Given the description of an element on the screen output the (x, y) to click on. 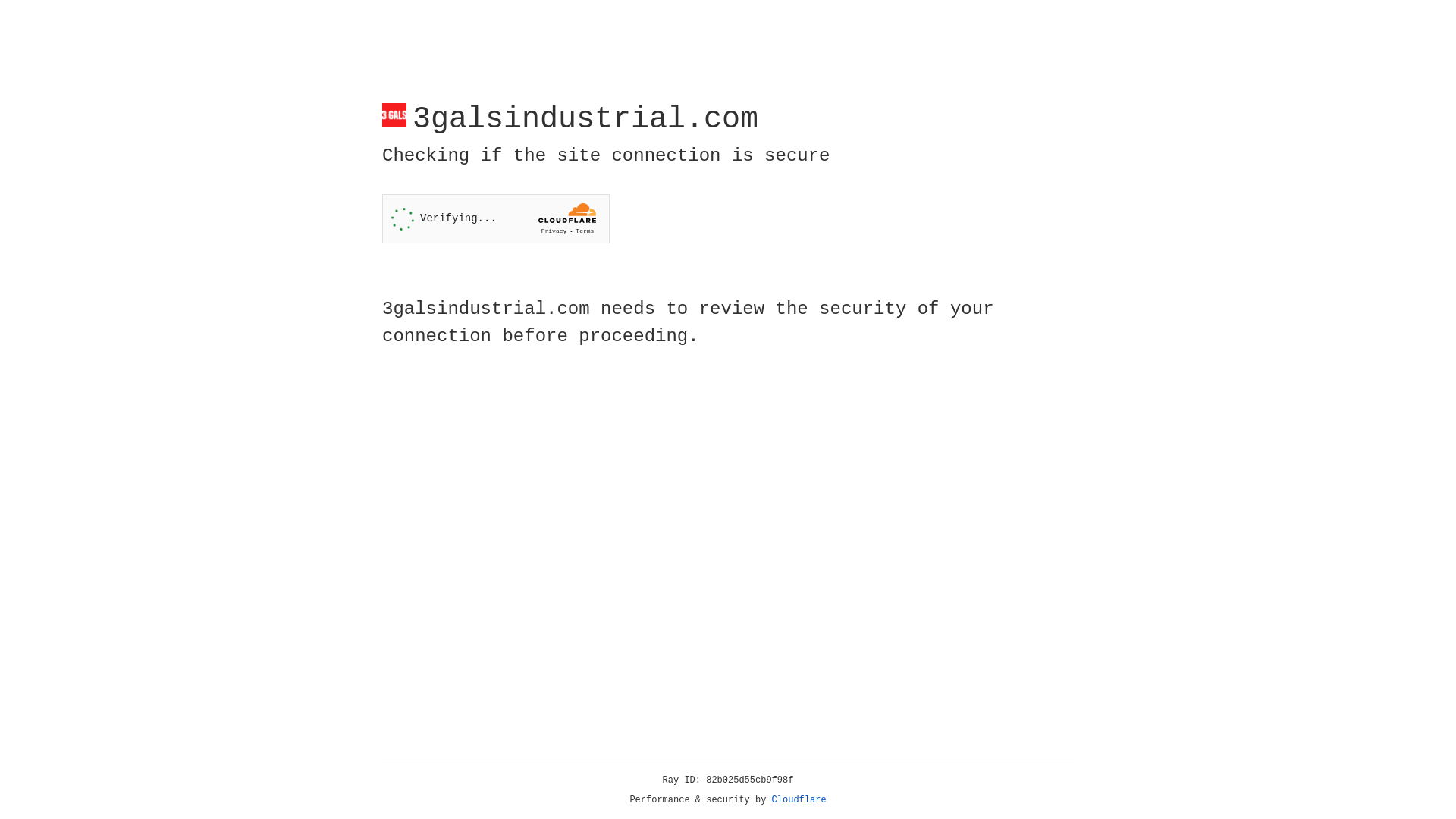
Widget containing a Cloudflare security challenge Element type: hover (495, 218)
Cloudflare Element type: text (798, 799)
